Given the description of an element on the screen output the (x, y) to click on. 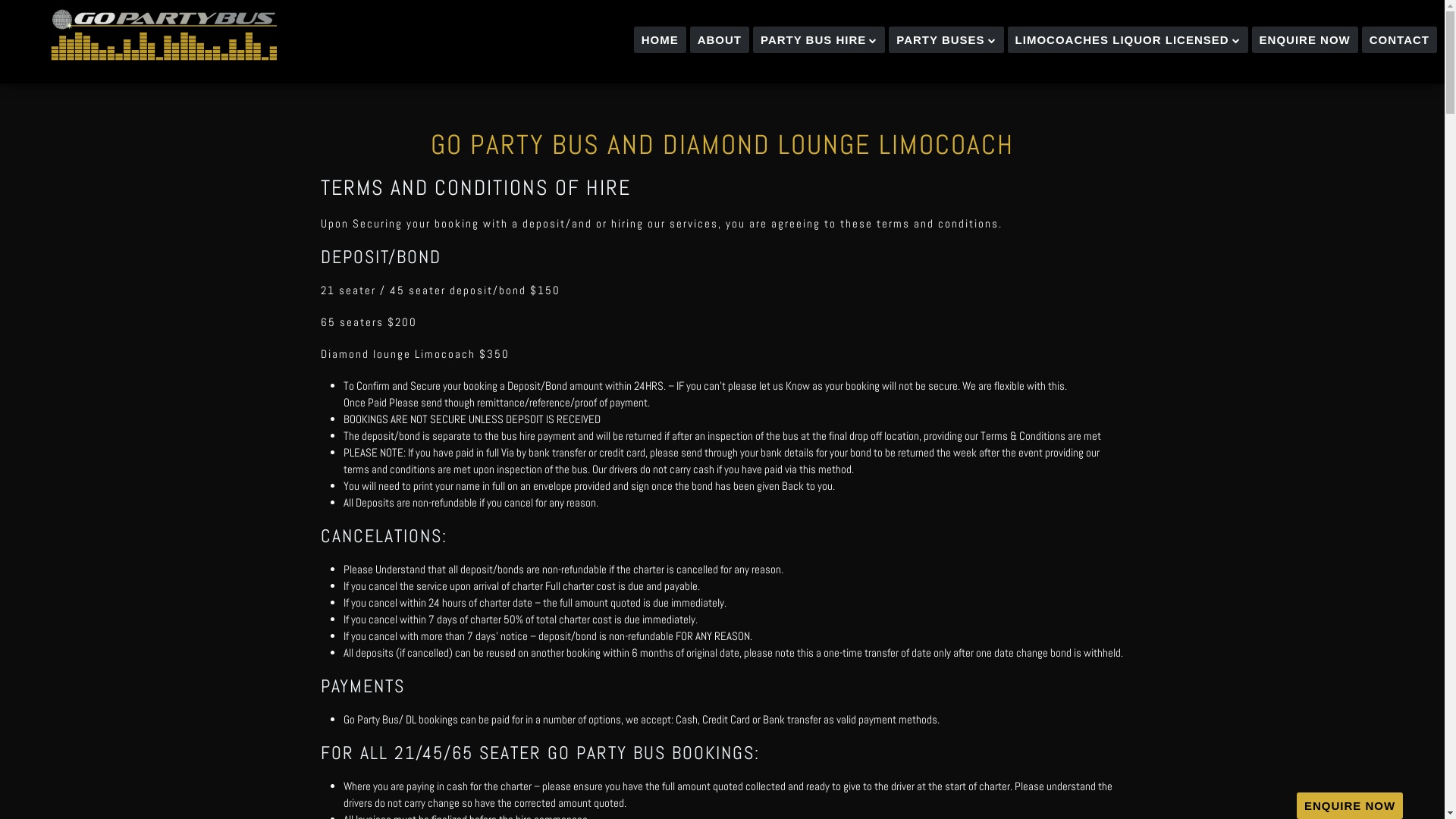
HOME Element type: text (659, 38)
CONTACT Element type: text (1399, 38)
ENQUIRE NOW Element type: text (1305, 38)
ABOUT Element type: text (719, 38)
PARTY BUSES Element type: text (945, 38)
PARTY BUS HIRE Element type: text (818, 38)
LIMOCOACHES LIQUOR LICENSED Element type: text (1127, 38)
